Given the description of an element on the screen output the (x, y) to click on. 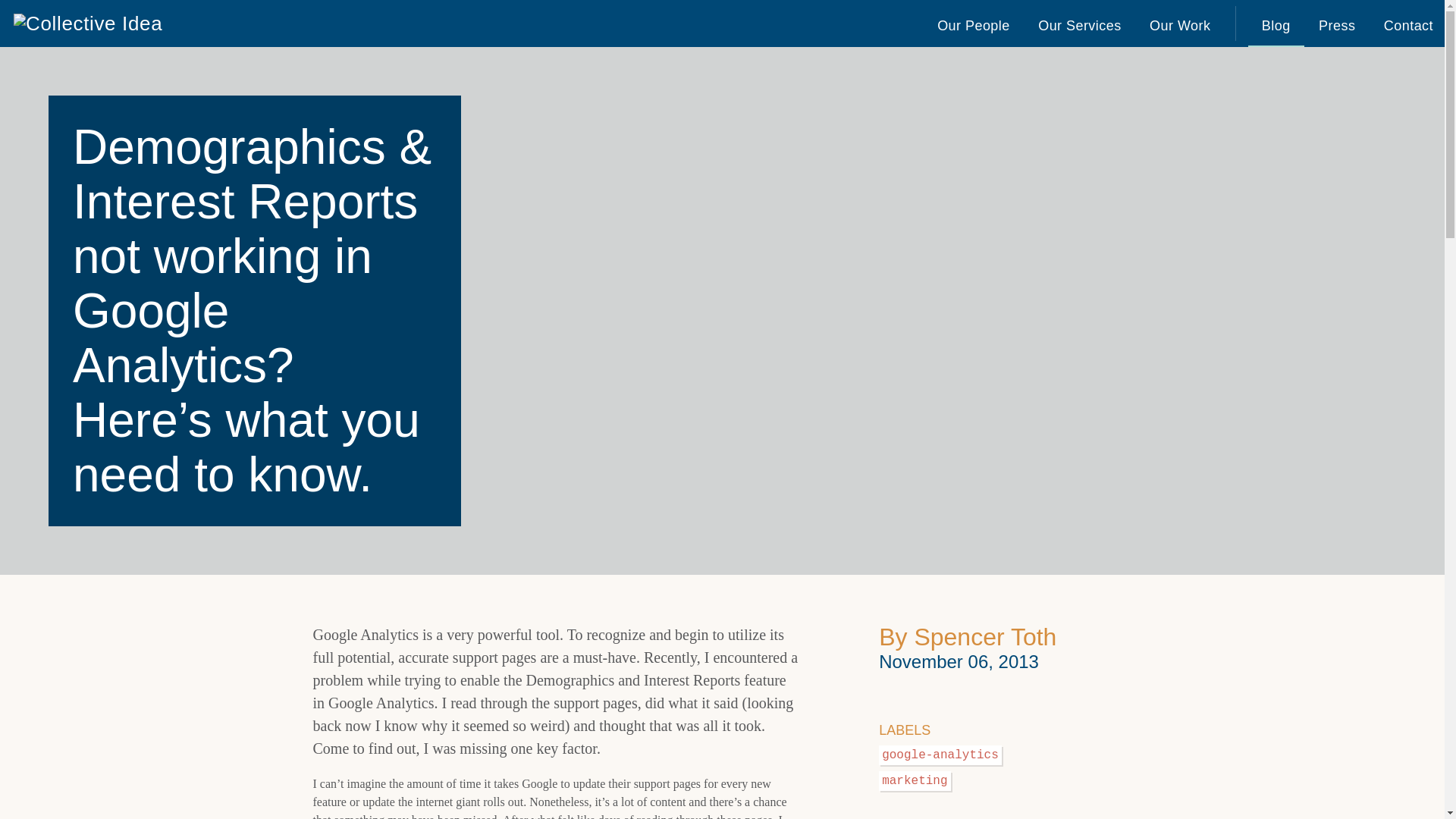
Our Services (1079, 23)
marketing (914, 779)
google-analytics (940, 753)
Our Work (1179, 23)
Press (1336, 23)
Our People (973, 23)
Blog (1275, 23)
